Given the description of an element on the screen output the (x, y) to click on. 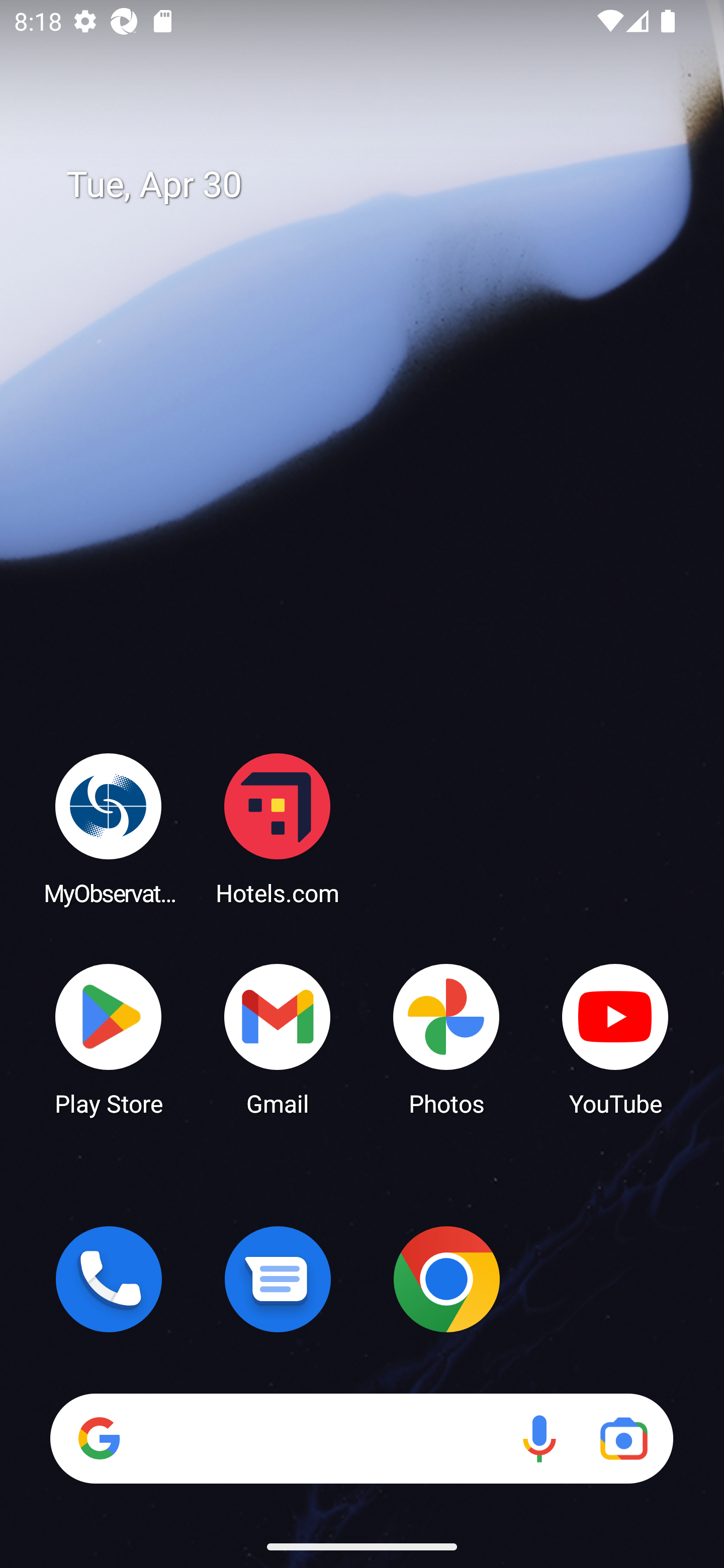
Tue, Apr 30 (375, 184)
MyObservatory (108, 828)
Hotels.com (277, 828)
Play Store (108, 1038)
Gmail (277, 1038)
Photos (445, 1038)
YouTube (615, 1038)
Phone (108, 1279)
Messages (277, 1279)
Chrome (446, 1279)
Voice search (539, 1438)
Google Lens (623, 1438)
